Given the description of an element on the screen output the (x, y) to click on. 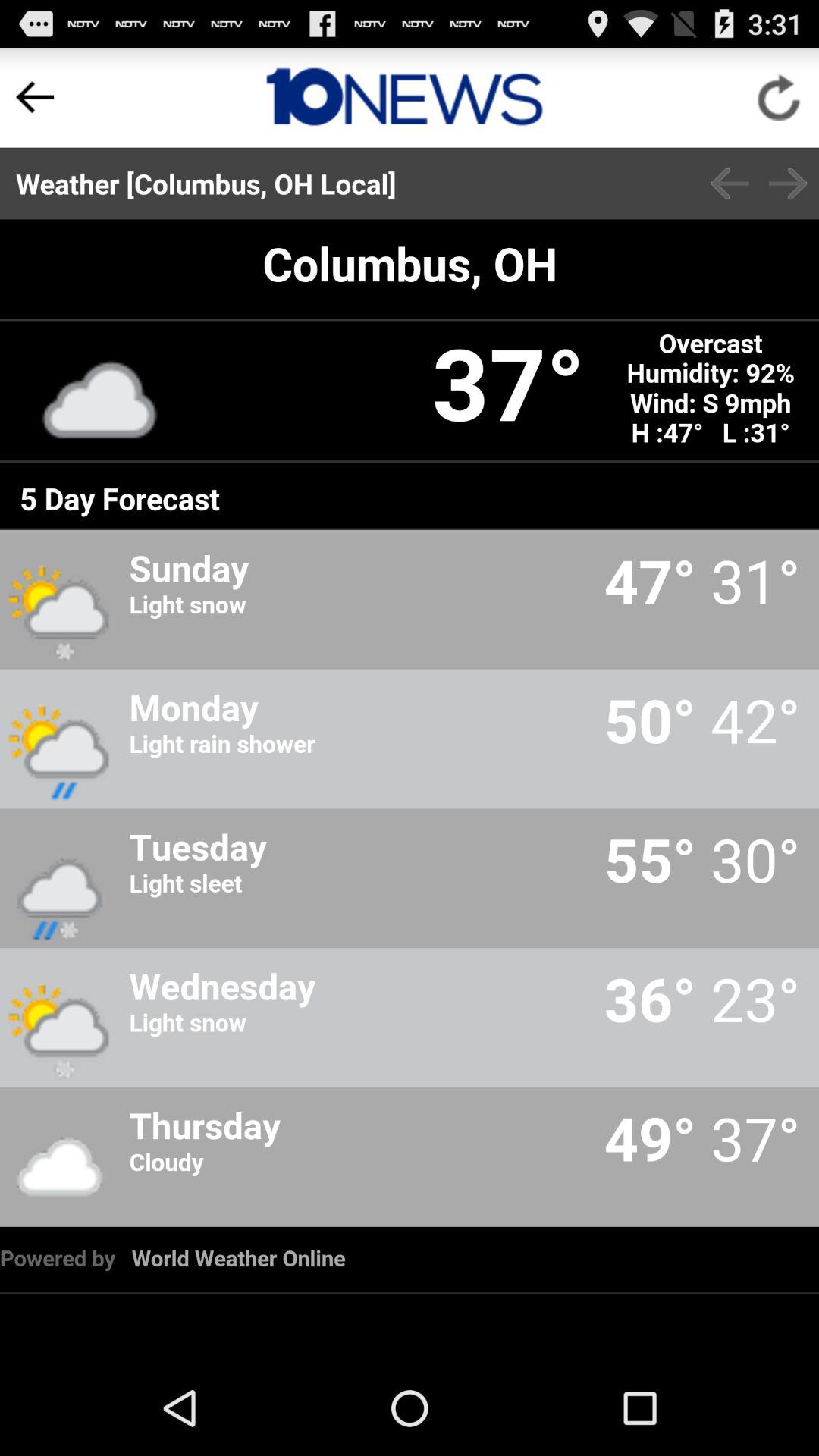
go to back (729, 183)
